Given the description of an element on the screen output the (x, y) to click on. 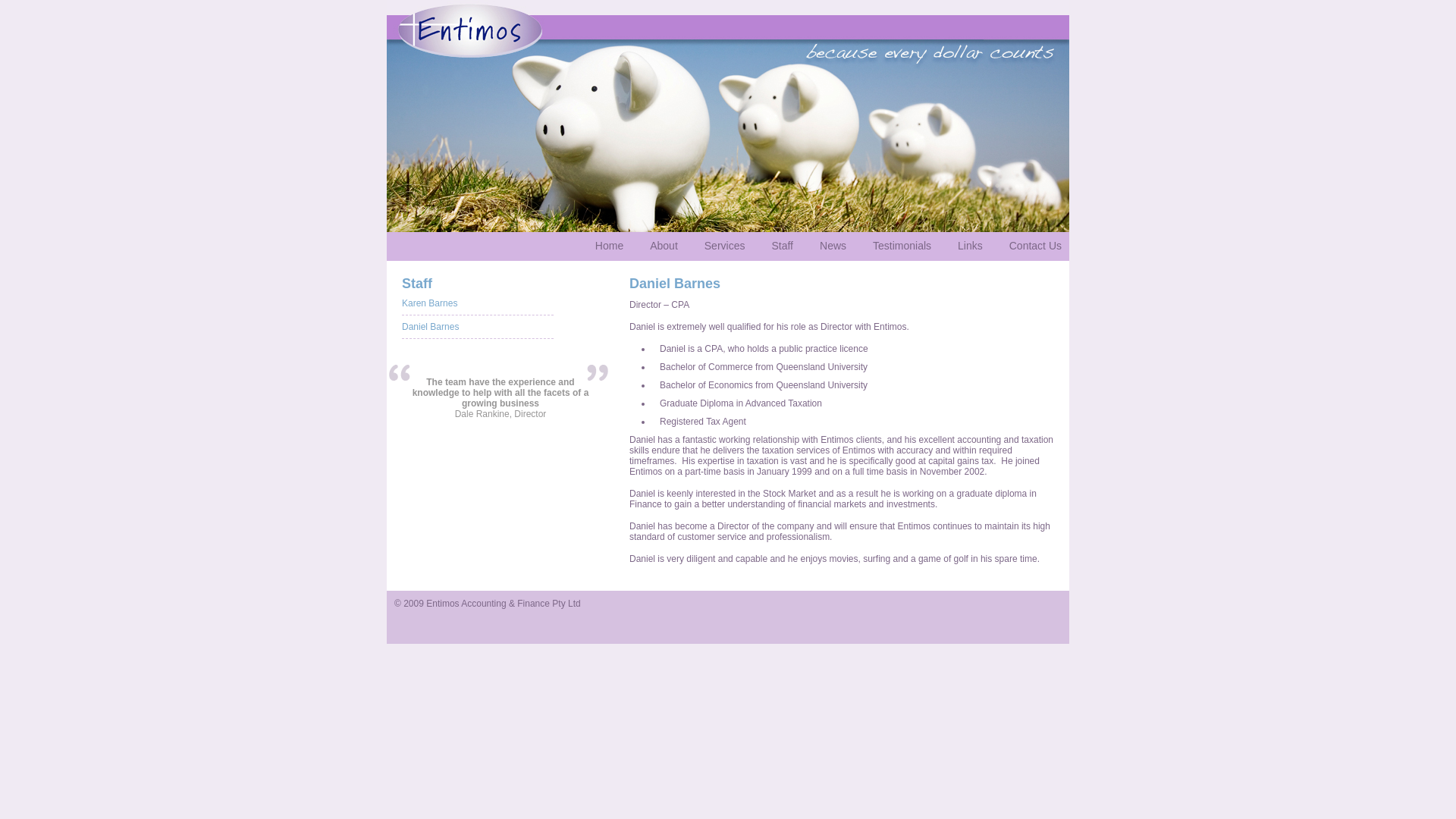
About Element type: text (663, 245)
Contact Us Element type: text (1035, 245)
Testimonials Element type: text (901, 245)
Services Element type: text (724, 245)
Karen Barnes Element type: text (429, 303)
Staff Element type: text (781, 245)
Daniel Barnes Element type: text (429, 326)
News Element type: text (832, 245)
Links Element type: text (970, 245)
Home Element type: text (608, 245)
